Given the description of an element on the screen output the (x, y) to click on. 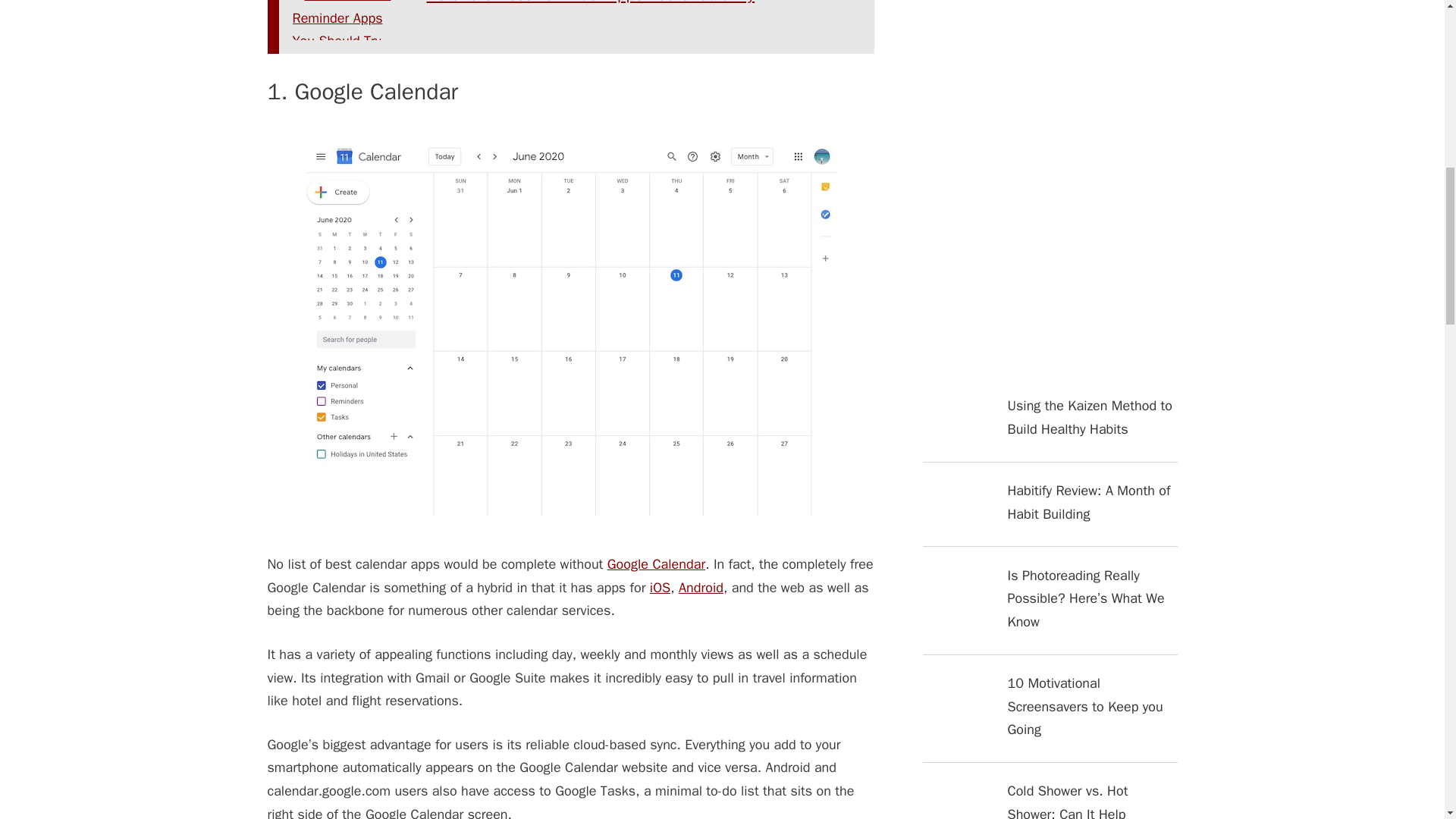
Android (700, 587)
10 of the Best Reminder Apps You Should Try (576, 20)
Cold Shower vs. Hot Shower: Can It Help Productivity? (1048, 799)
Habitify Review: A Month of Habit Building (1048, 512)
Using the Kaizen Method to Build Healthy Habits (1048, 427)
10 of the Best Reminder Apps You Should Try (576, 20)
iOS (659, 587)
10 Motivational Screensavers to Keep you Going (1048, 716)
Google Calendar (655, 564)
